Given the description of an element on the screen output the (x, y) to click on. 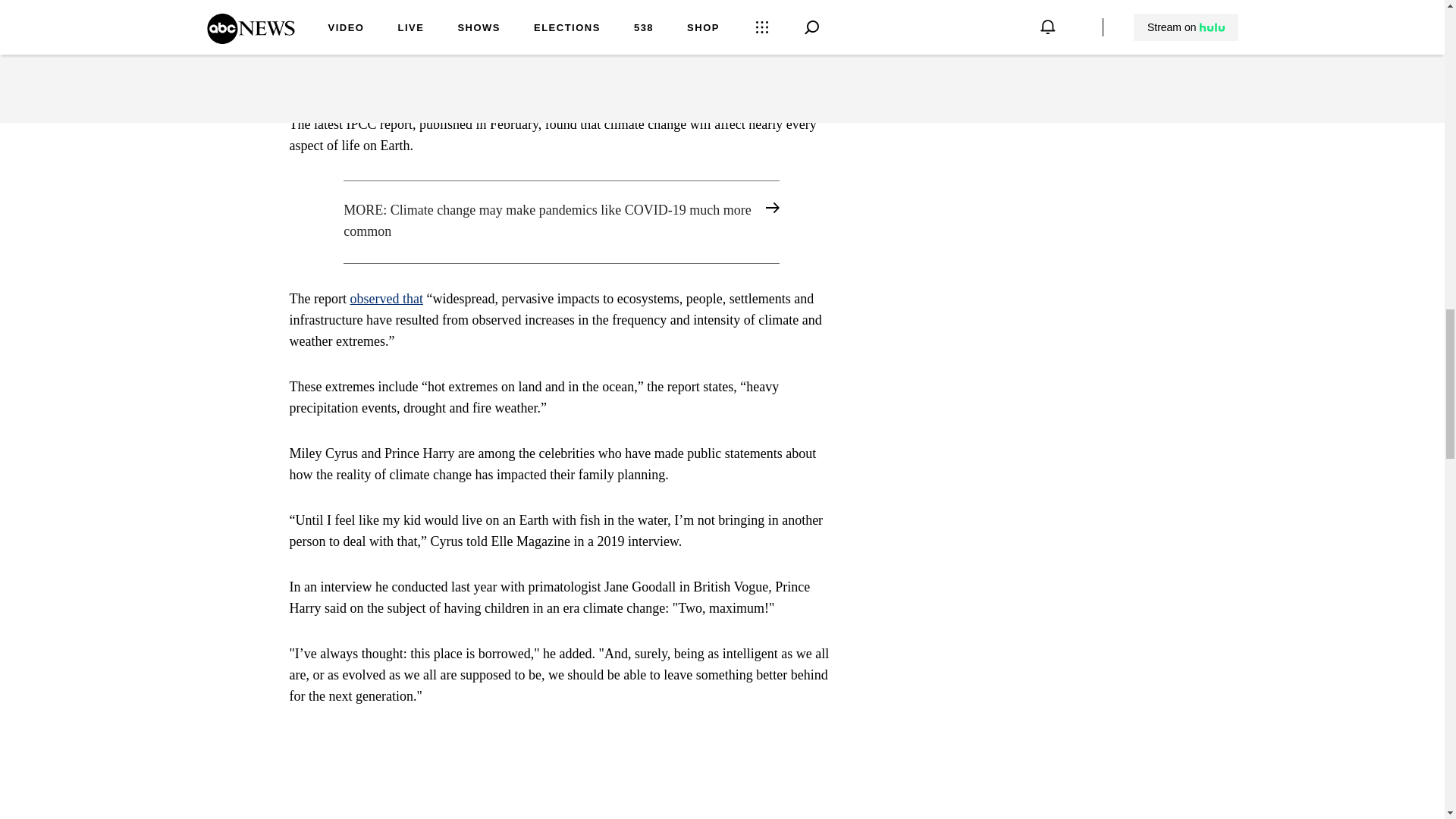
observed that (385, 298)
